Given the description of an element on the screen output the (x, y) to click on. 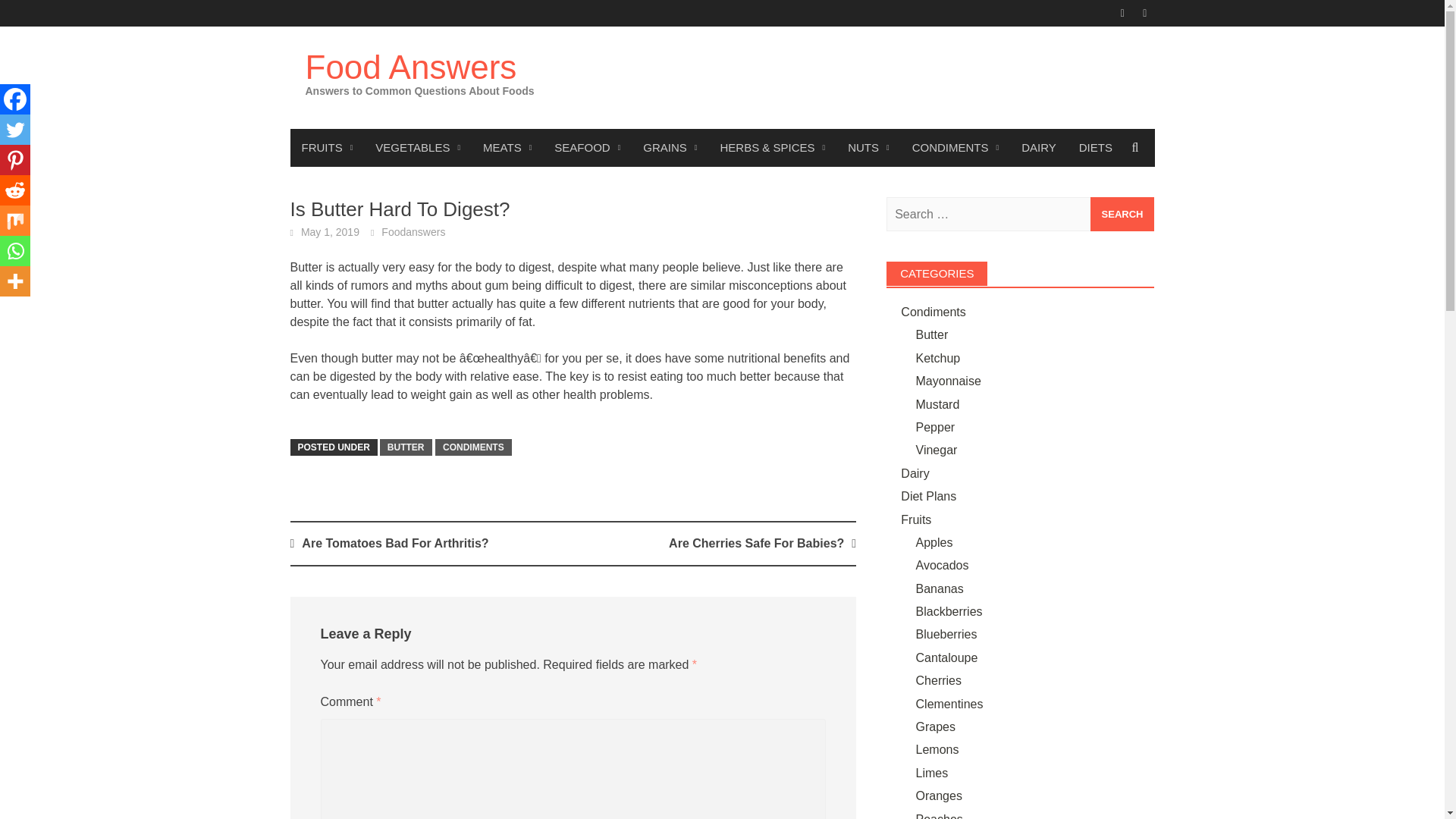
Diet Plans (1095, 147)
Reddit (15, 190)
Pinterest (15, 159)
Whatsapp (15, 250)
Food Answers (410, 66)
Twitter (15, 129)
Facebook (15, 99)
Mix (15, 220)
VEGETABLES (417, 147)
FRUITS (326, 147)
